Given the description of an element on the screen output the (x, y) to click on. 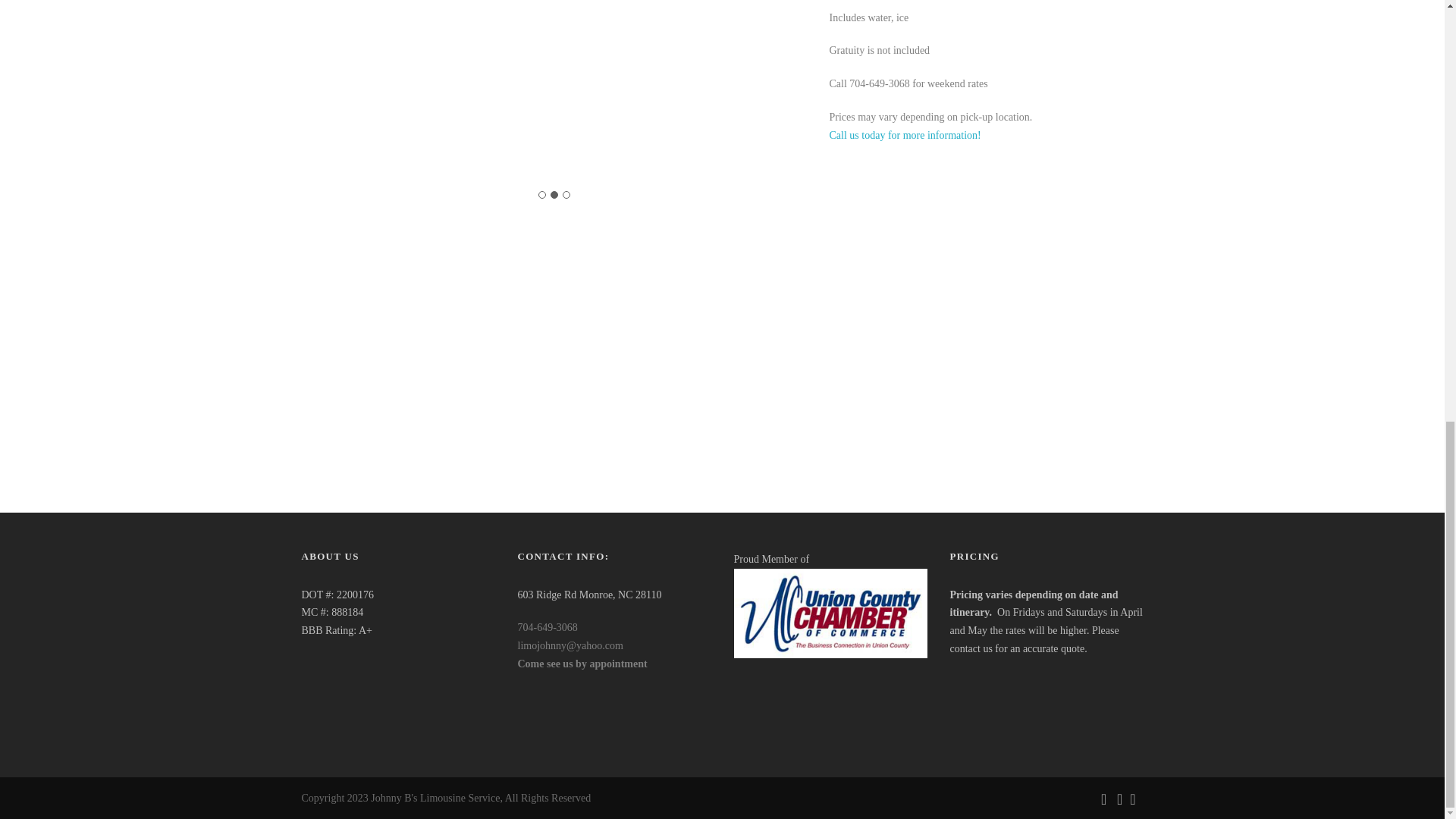
Call us today for more information! (905, 134)
3 (566, 194)
1 (542, 194)
2 (553, 194)
